Given the description of an element on the screen output the (x, y) to click on. 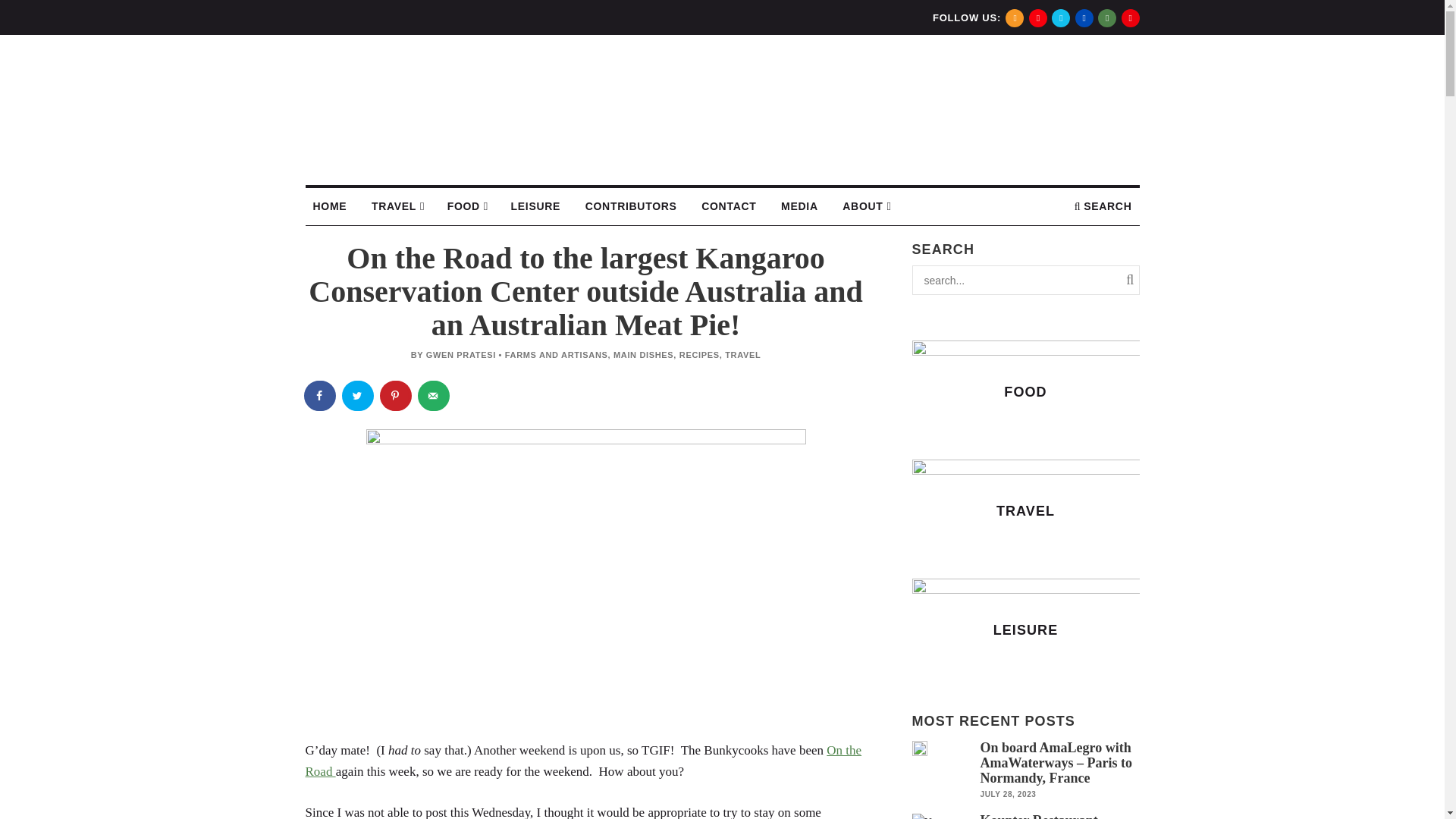
Save to Pinterest (395, 395)
ABOUT (865, 206)
RSS (1014, 18)
TRAVEL (396, 206)
Facebook (1084, 18)
MAIN DISHES (642, 354)
FOOD (466, 206)
HOME (328, 206)
Youtube (1129, 18)
TRAVEL (742, 354)
On the Road (582, 760)
Twitter (1060, 18)
MEDIA (799, 206)
Send over email (433, 395)
CONTRIBUTORS (631, 206)
